Given the description of an element on the screen output the (x, y) to click on. 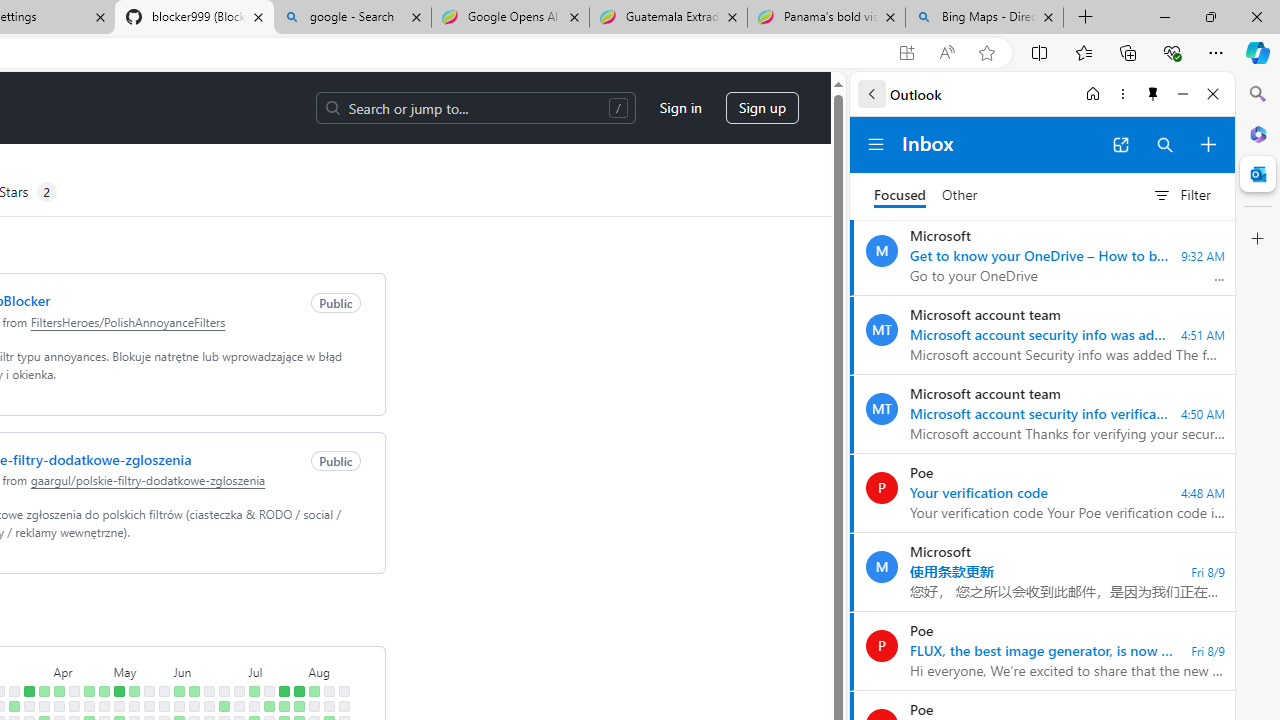
Collections (1128, 52)
1 contribution on July 29th. (298, 706)
No contributions on June 10th. (193, 706)
Close Outlook pane (1258, 174)
No contributions on April 8th. (58, 706)
1 contribution on July 7th. (253, 691)
2 contributions on June 2nd. (178, 691)
No contributions on May 13th. (133, 706)
No contributions on April 22nd. (88, 706)
Google Opens AI Academy for Startups - Nearshore Americas (509, 17)
New Tab (1085, 17)
No contributions on August 12th. (328, 706)
